Given the description of an element on the screen output the (x, y) to click on. 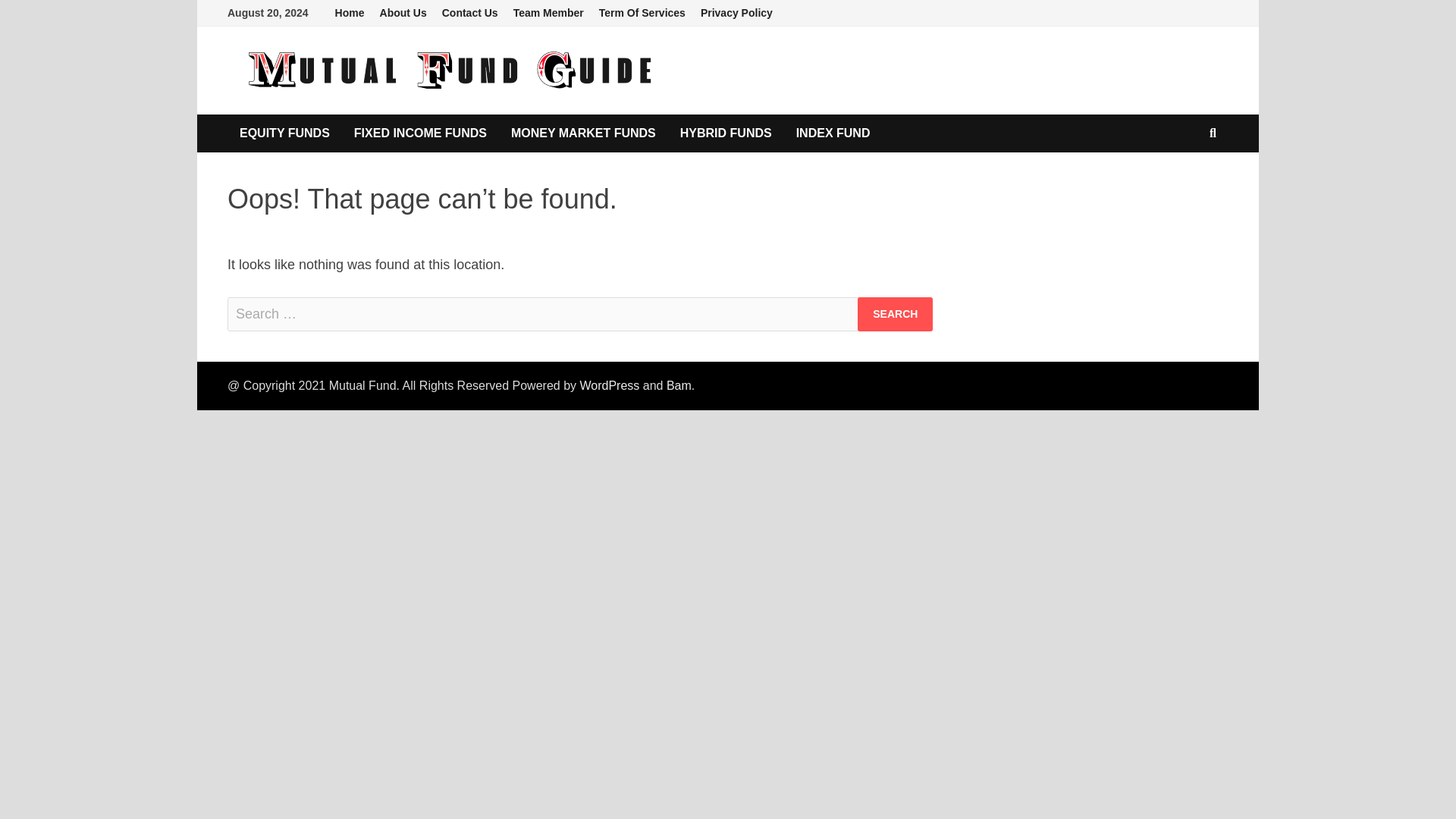
Contact Us (469, 13)
Term Of Services (642, 13)
Search (895, 314)
MONEY MARKET FUNDS (583, 133)
EQUITY FUNDS (284, 133)
HYBRID FUNDS (726, 133)
Team Member (548, 13)
Home (349, 13)
Search (895, 314)
FIXED INCOME FUNDS (420, 133)
